Given the description of an element on the screen output the (x, y) to click on. 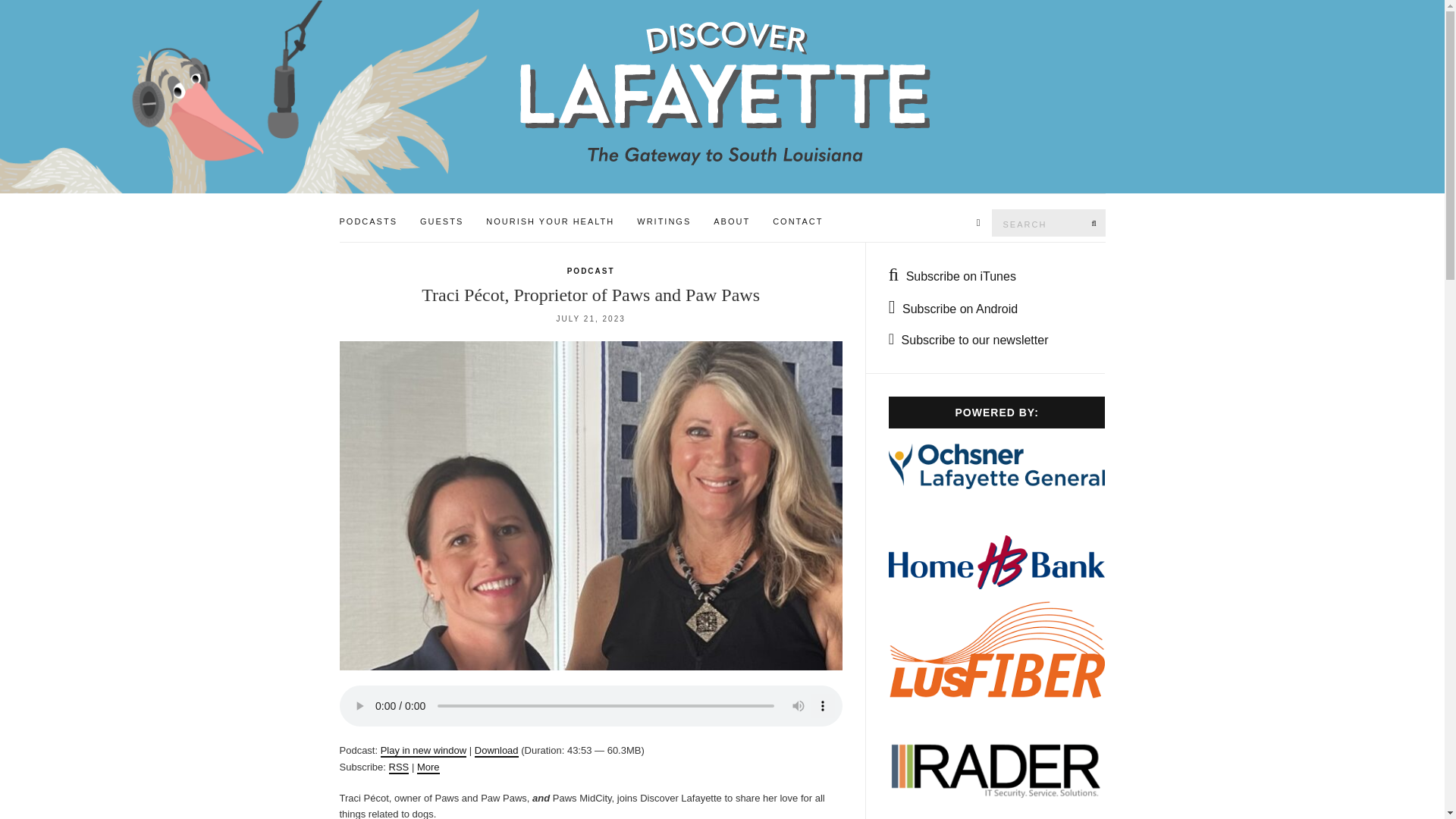
CONTACT (797, 222)
Download (496, 750)
WRITINGS (663, 222)
Subscribe via RSS (398, 767)
More (427, 767)
Subscribe to our newsletter (968, 339)
PODCASTS (368, 222)
Play in new window (422, 750)
Download (496, 750)
ABOUT (731, 222)
